Given the description of an element on the screen output the (x, y) to click on. 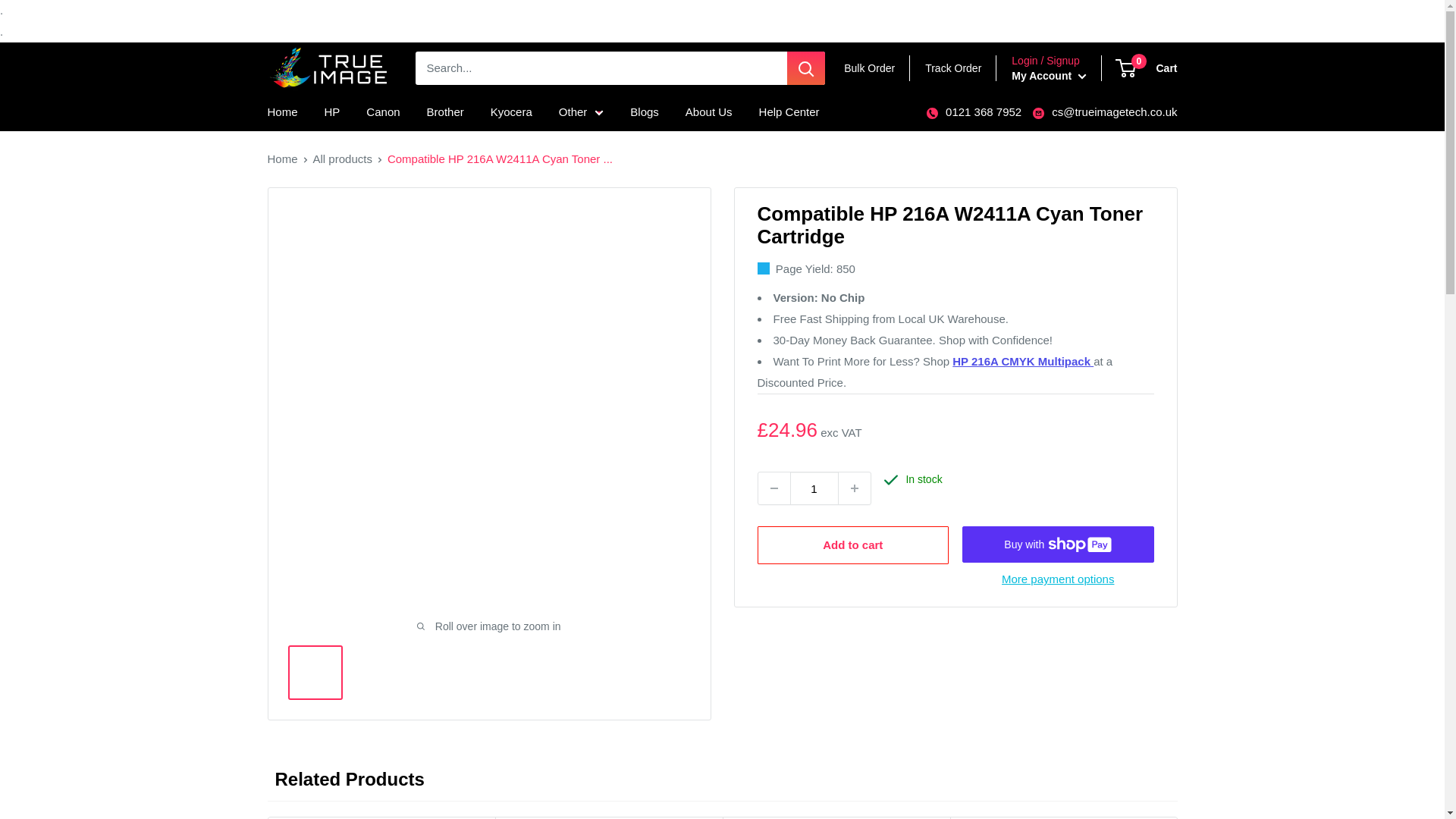
Track Order (952, 68)
Decrease quantity by 1 (774, 488)
Increase quantity by 1 (854, 488)
Bulk Order (869, 68)
My Account (1048, 75)
True Image (327, 68)
1 (814, 488)
